Given the description of an element on the screen output the (x, y) to click on. 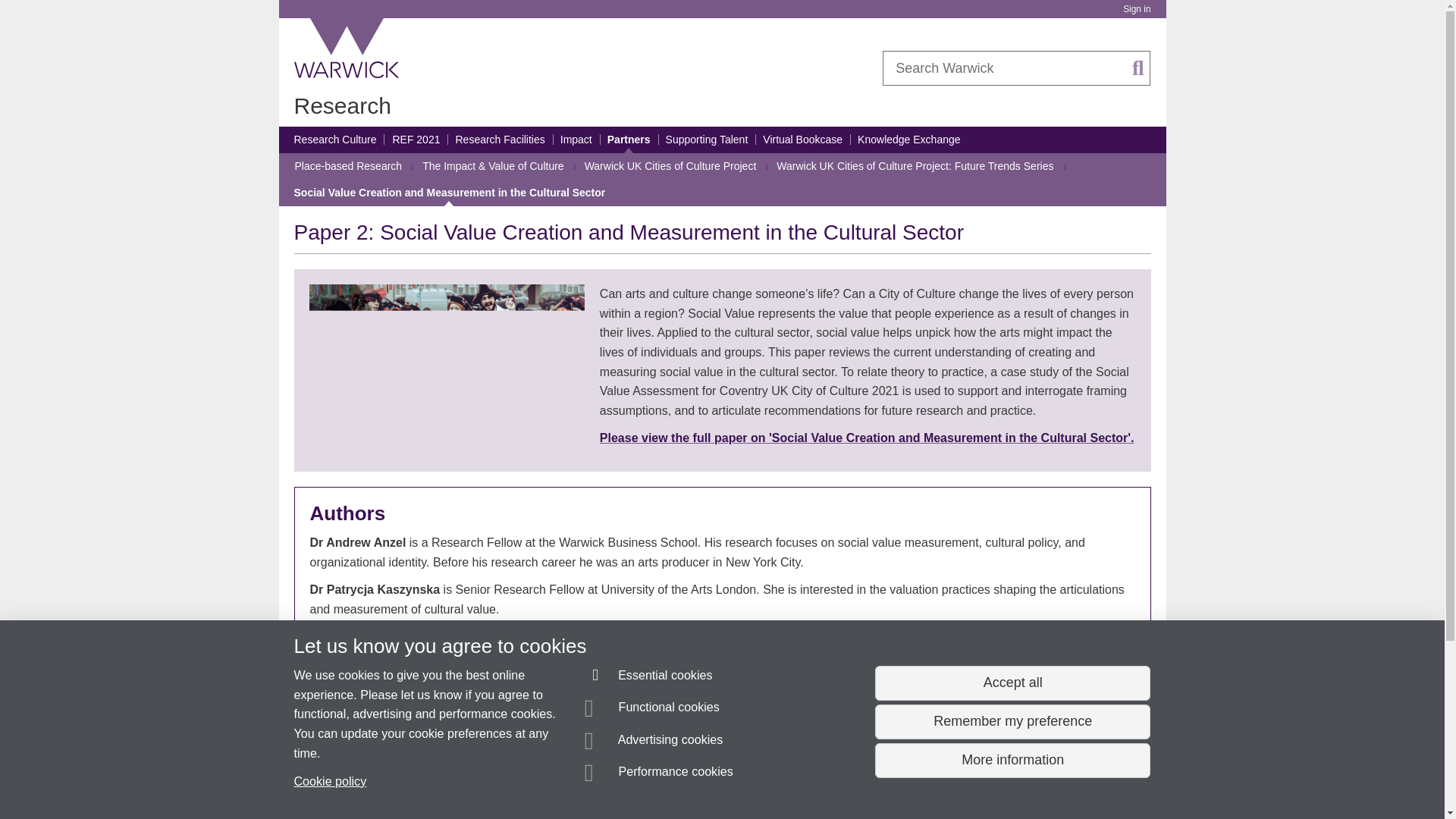
Research Facilities (499, 139)
Essential cookies are always on (649, 677)
University of Warwick on YouTube (1076, 814)
Research Culture (335, 139)
Accept all functional, advertising and performance cookies (1012, 683)
Virtual Bookcase (802, 139)
Knowledge Exchange (908, 139)
Partners (628, 139)
